Given the description of an element on the screen output the (x, y) to click on. 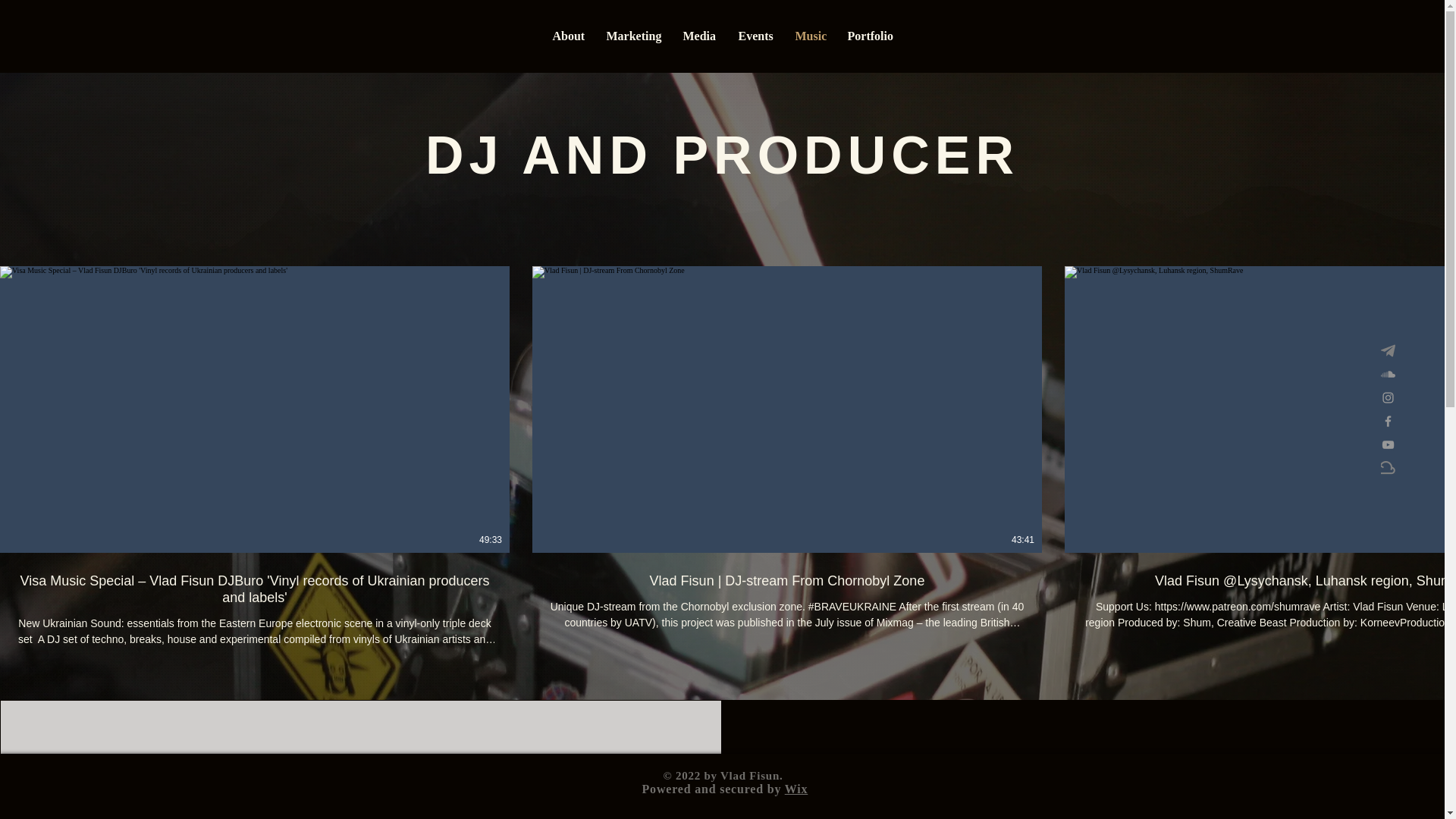
Events (754, 35)
Media (698, 35)
Wix (796, 788)
Portfolio (868, 35)
Marketing (632, 35)
About (568, 35)
Music (809, 35)
